Given the description of an element on the screen output the (x, y) to click on. 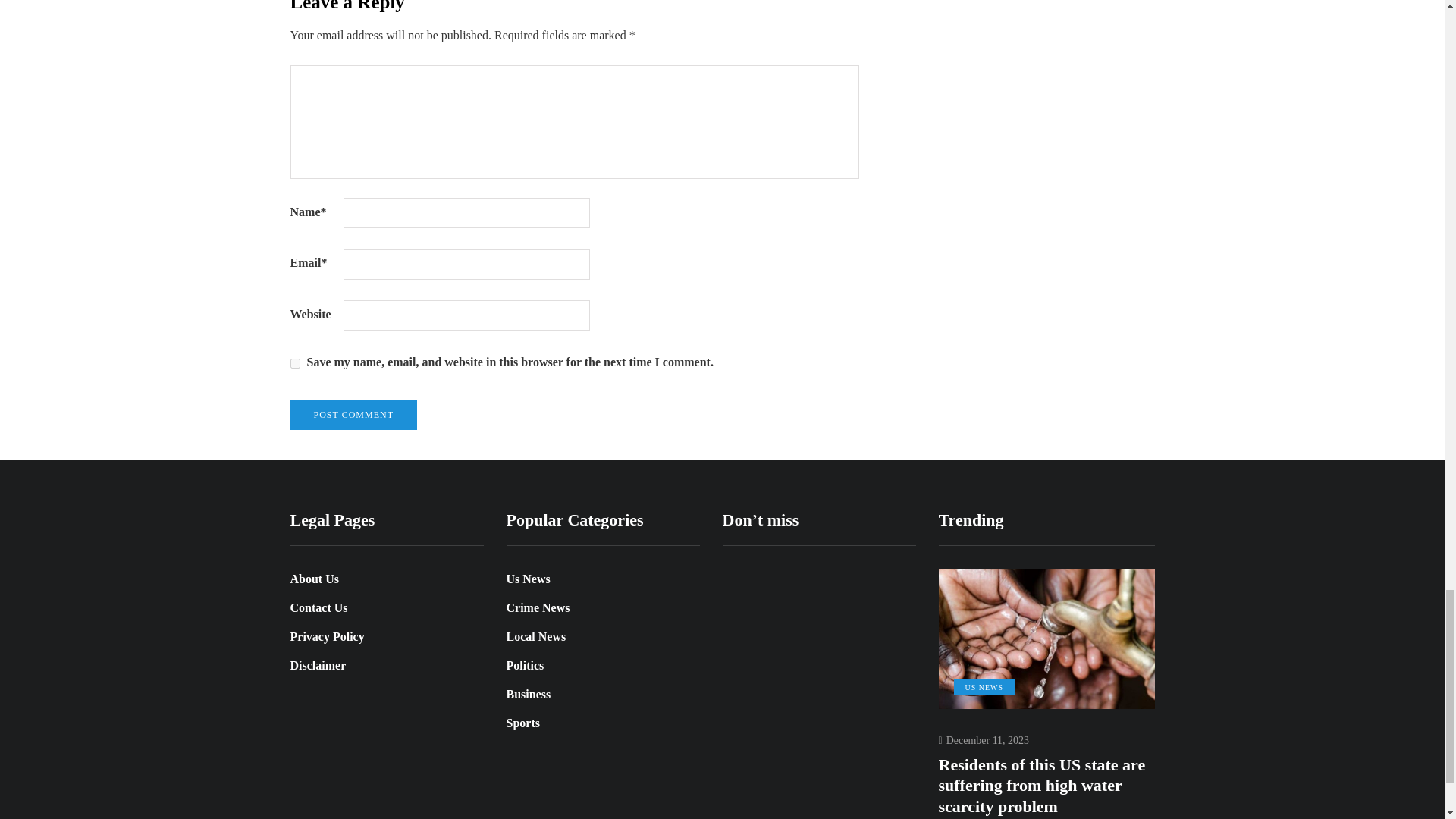
Post comment (352, 414)
yes (294, 363)
